Given the description of an element on the screen output the (x, y) to click on. 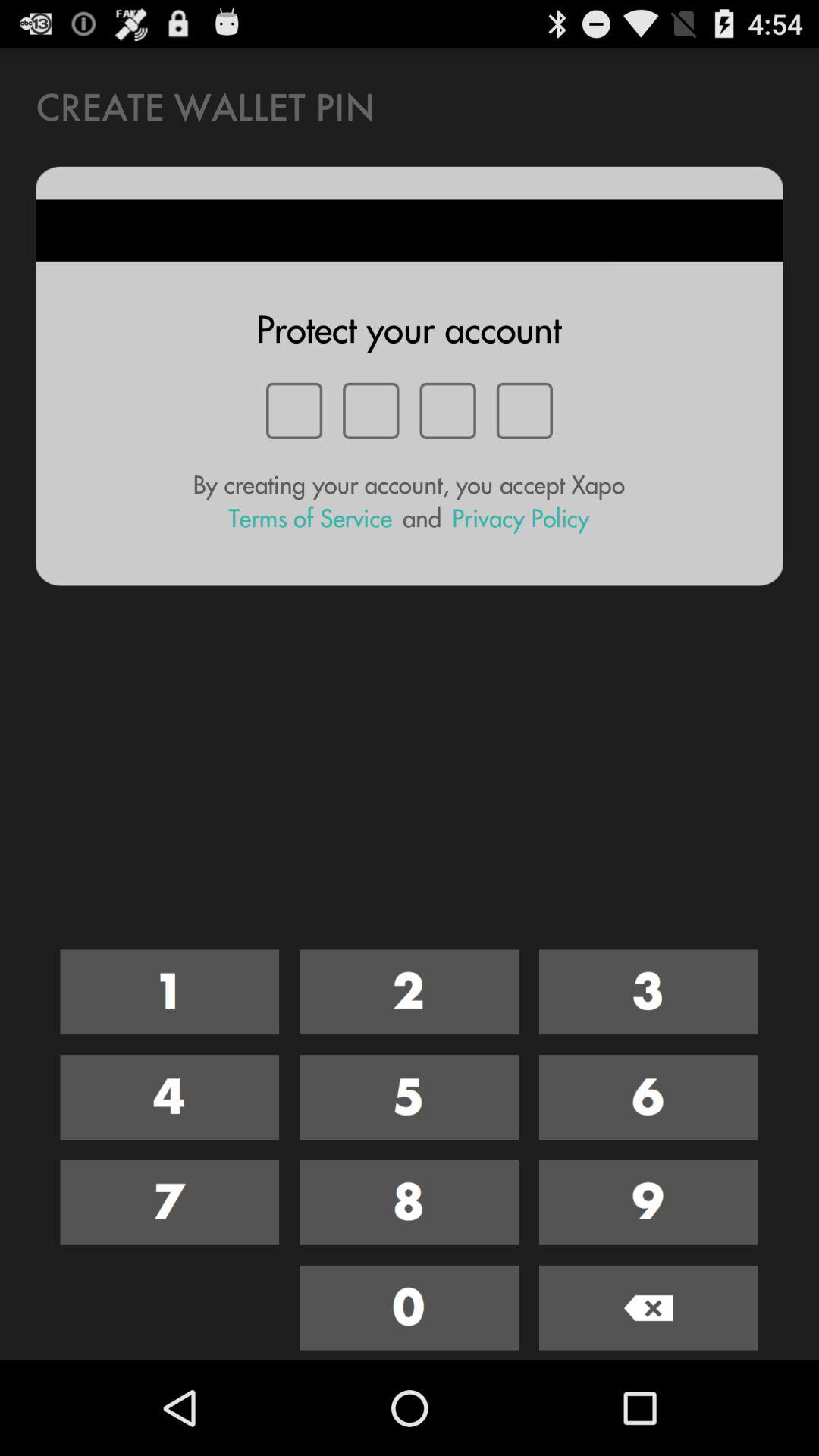
the number 5 button (408, 1097)
